Given the description of an element on the screen output the (x, y) to click on. 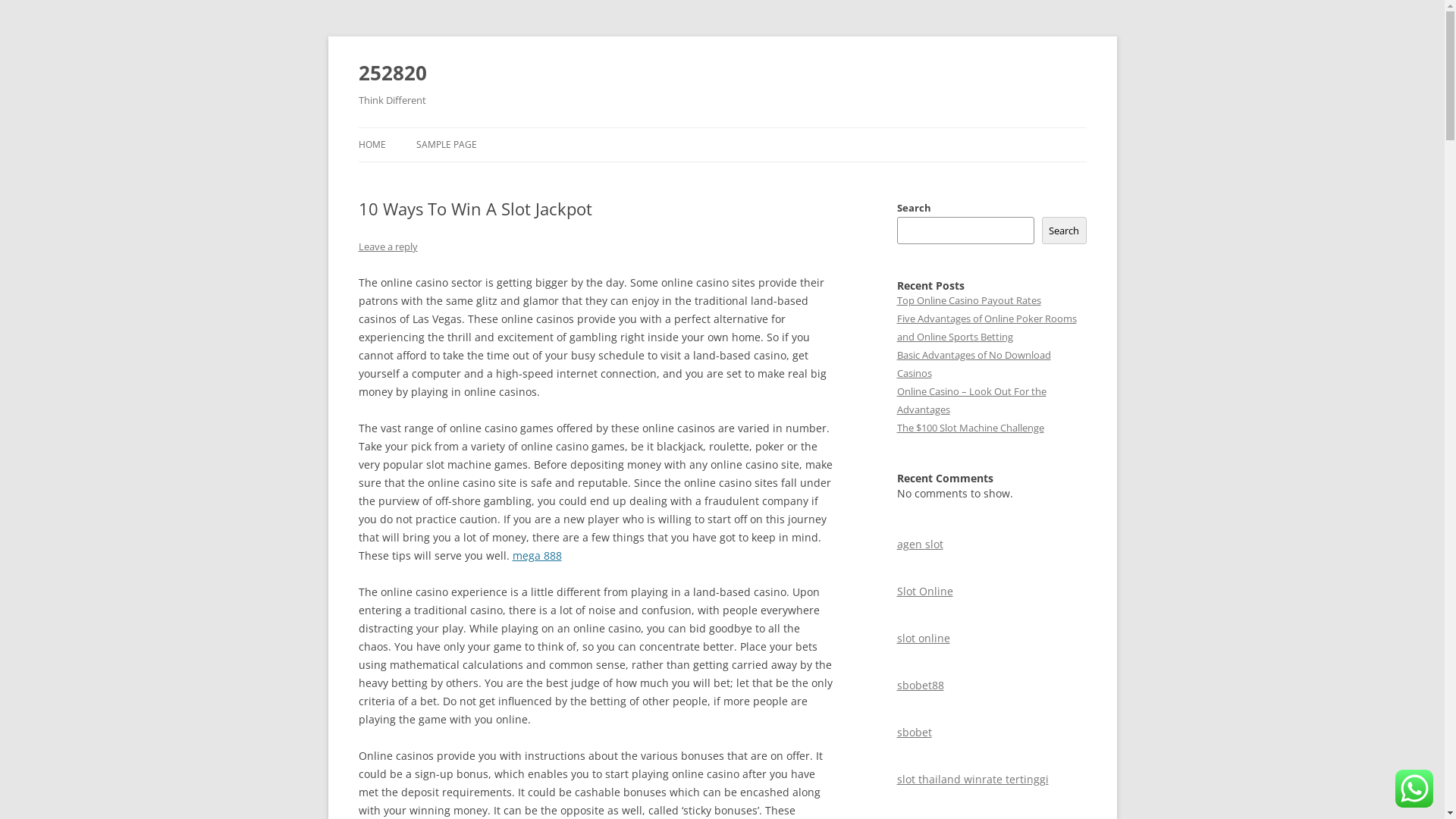
Basic Advantages of No Download Casinos Element type: text (973, 363)
Search Element type: text (1063, 230)
Top Online Casino Payout Rates Element type: text (968, 300)
SAMPLE PAGE Element type: text (445, 144)
sbobet88 Element type: text (919, 684)
Skip to content Element type: text (721, 127)
HOME Element type: text (371, 144)
The $100 Slot Machine Challenge Element type: text (969, 427)
Leave a reply Element type: text (387, 246)
mega 888 Element type: text (536, 555)
sbobet Element type: text (913, 731)
252820 Element type: text (391, 72)
slot thailand winrate tertinggi Element type: text (972, 778)
Slot Online Element type: text (924, 590)
agen slot Element type: text (919, 543)
slot online Element type: text (922, 637)
